Given the description of an element on the screen output the (x, y) to click on. 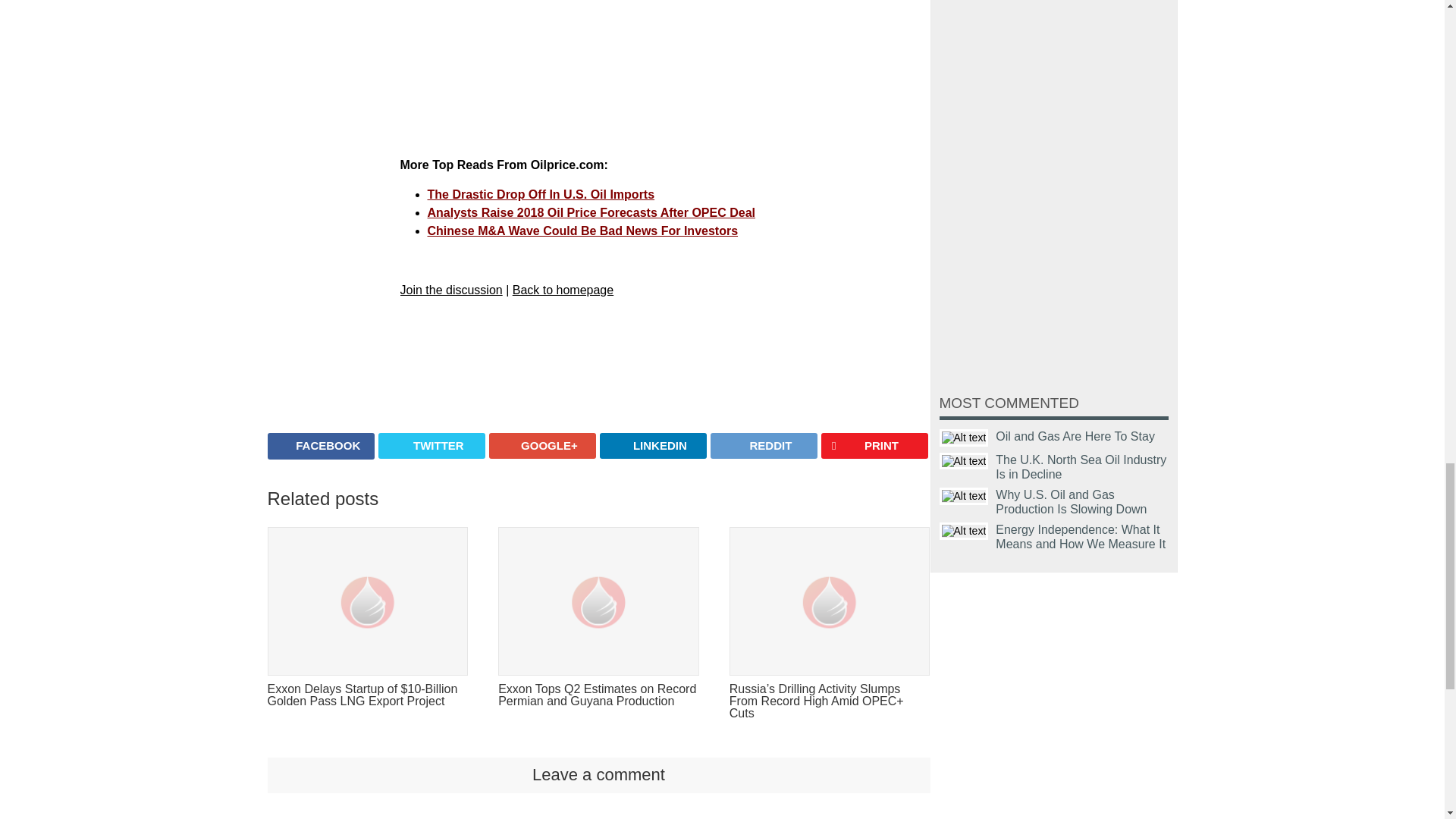
Title text (963, 530)
Title text (963, 496)
Title text (963, 437)
Title text (963, 461)
